Given the description of an element on the screen output the (x, y) to click on. 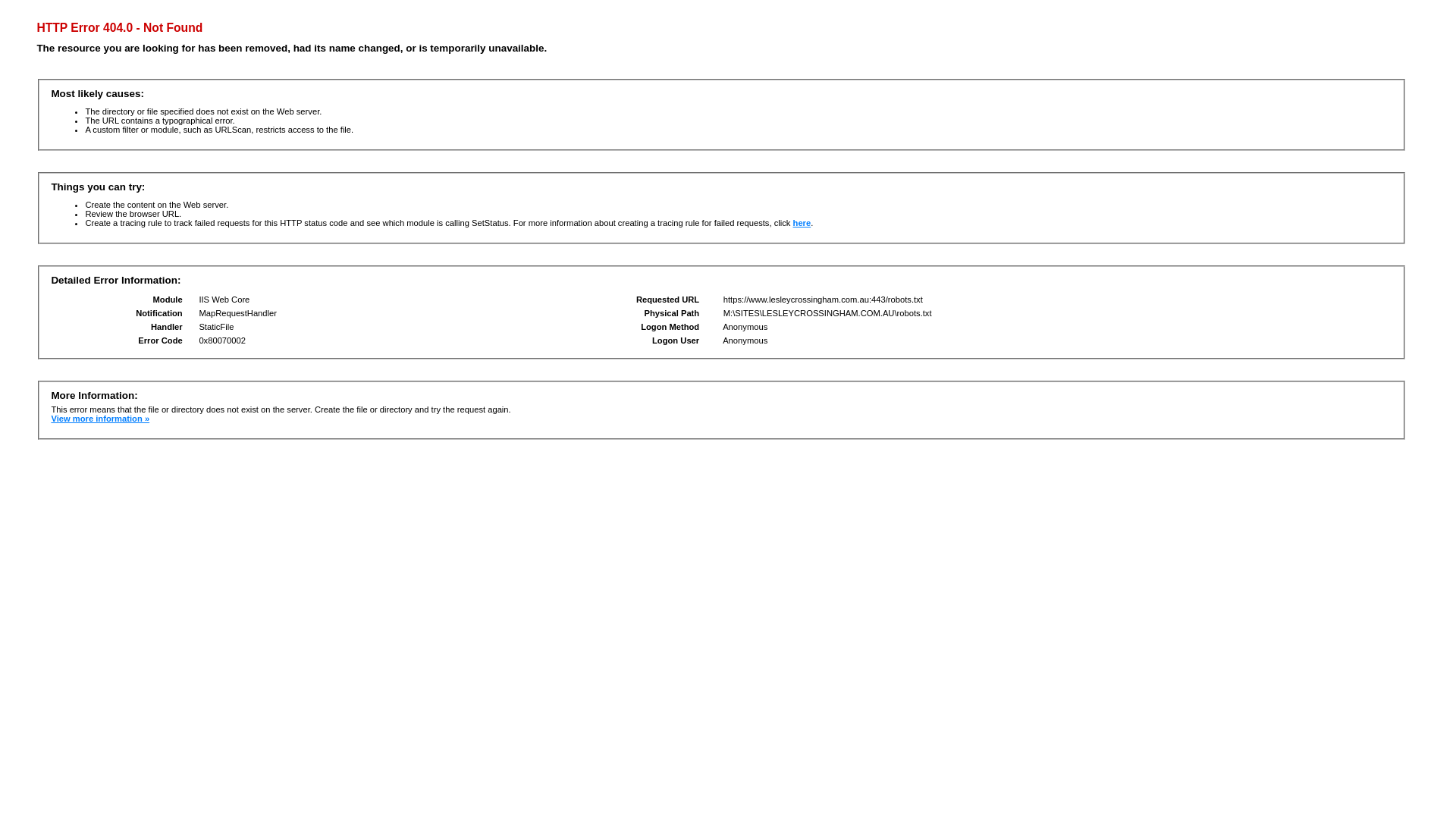
here Element type: text (802, 222)
